Given the description of an element on the screen output the (x, y) to click on. 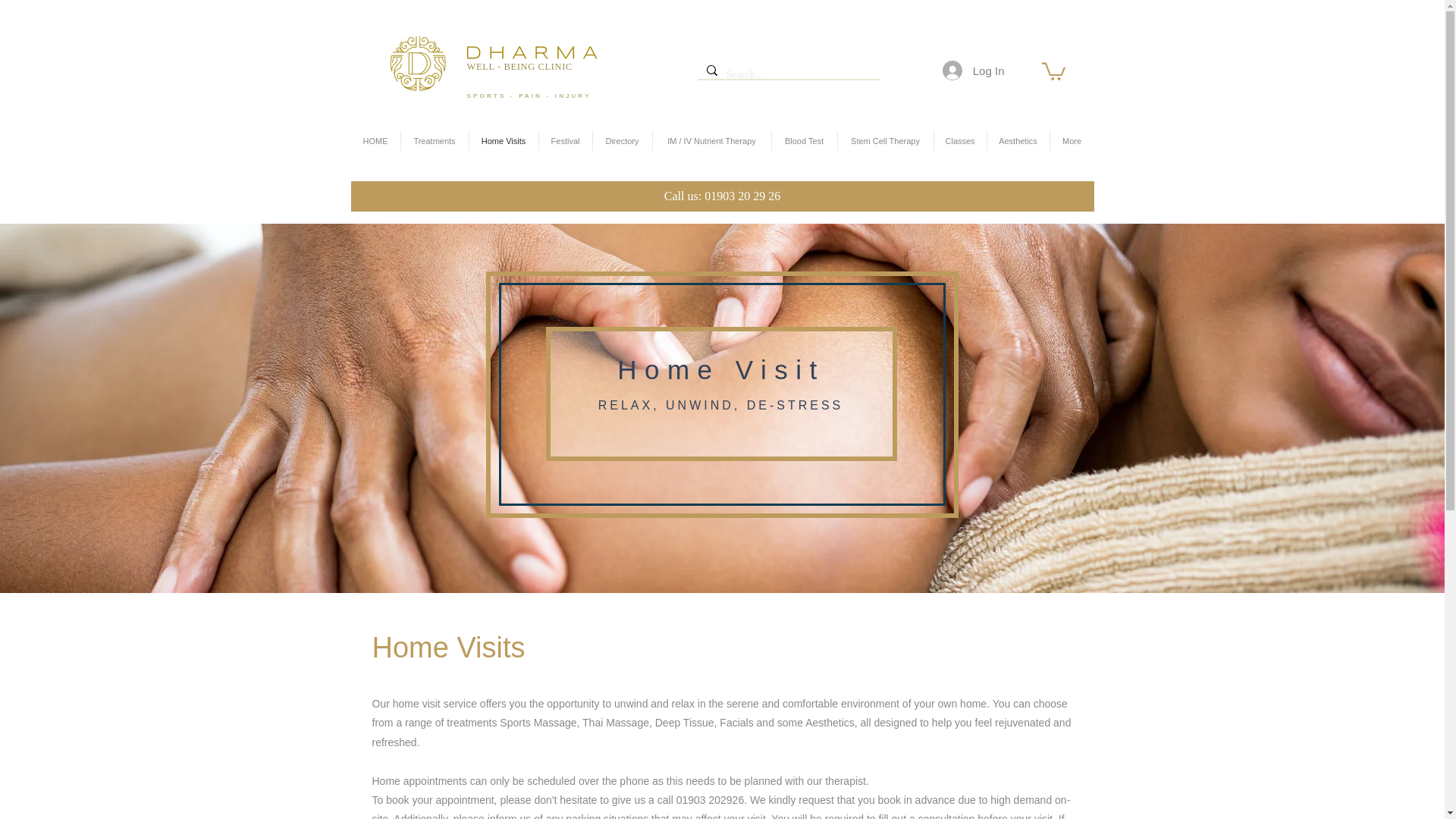
HOME (374, 140)
Directory (622, 140)
Stem Cell Therapy (885, 140)
Home Visits (502, 140)
Classes (960, 140)
Log In (972, 70)
Aesthetics (1018, 140)
Blood Test (804, 140)
Festival (564, 140)
Treatments (433, 140)
